Given the description of an element on the screen output the (x, y) to click on. 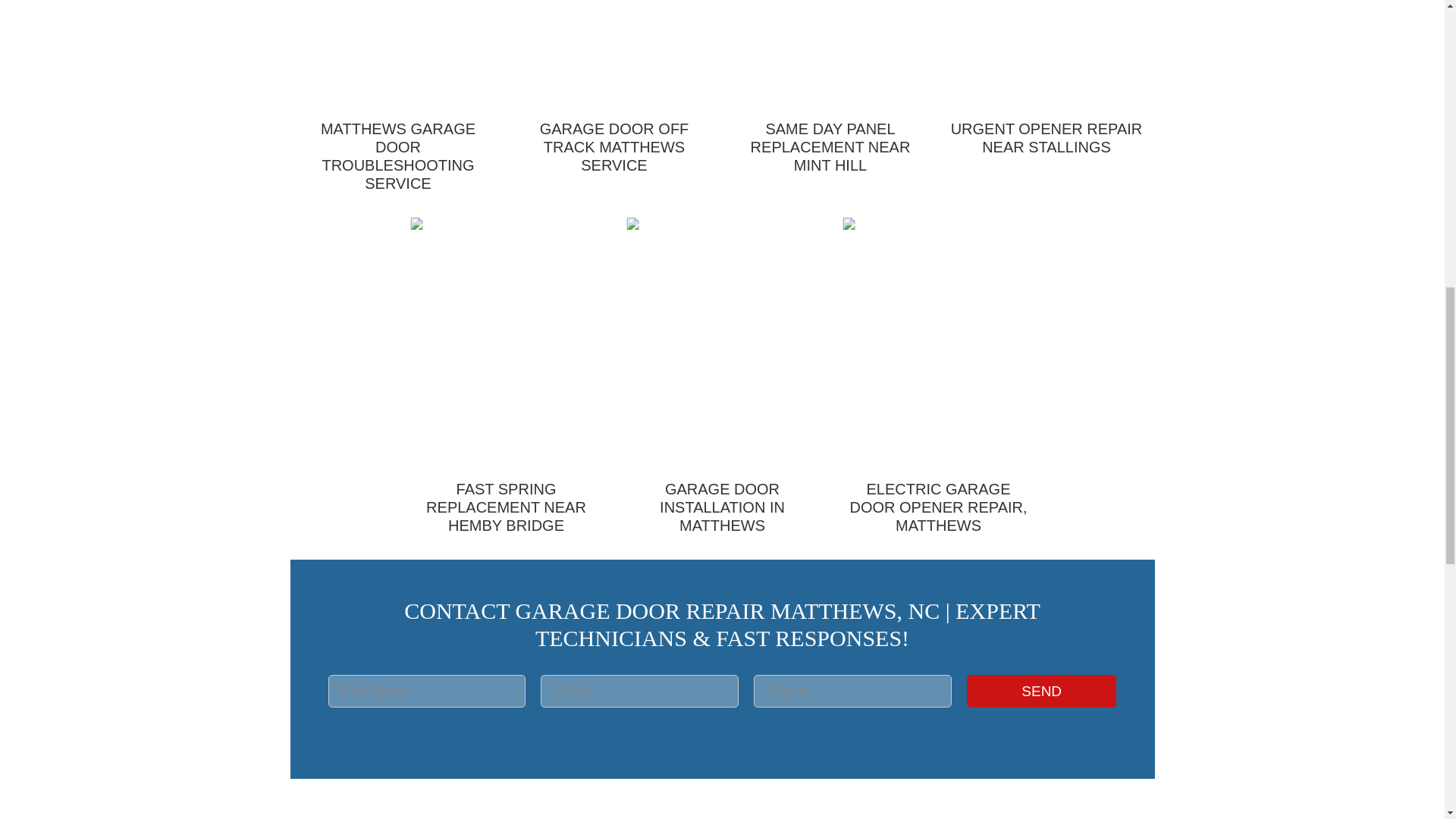
SEND (1041, 690)
URGENT OPENER REPAIR NEAR STALLINGS (1046, 90)
SEND (1041, 690)
GARAGE DOOR OFF TRACK MATTHEWS SERVICE (614, 99)
MATTHEWS GARAGE DOOR TROUBLESHOOTING SERVICE (397, 108)
SAME DAY PANEL REPLACEMENT NEAR MINT HILL (829, 99)
